Given the description of an element on the screen output the (x, y) to click on. 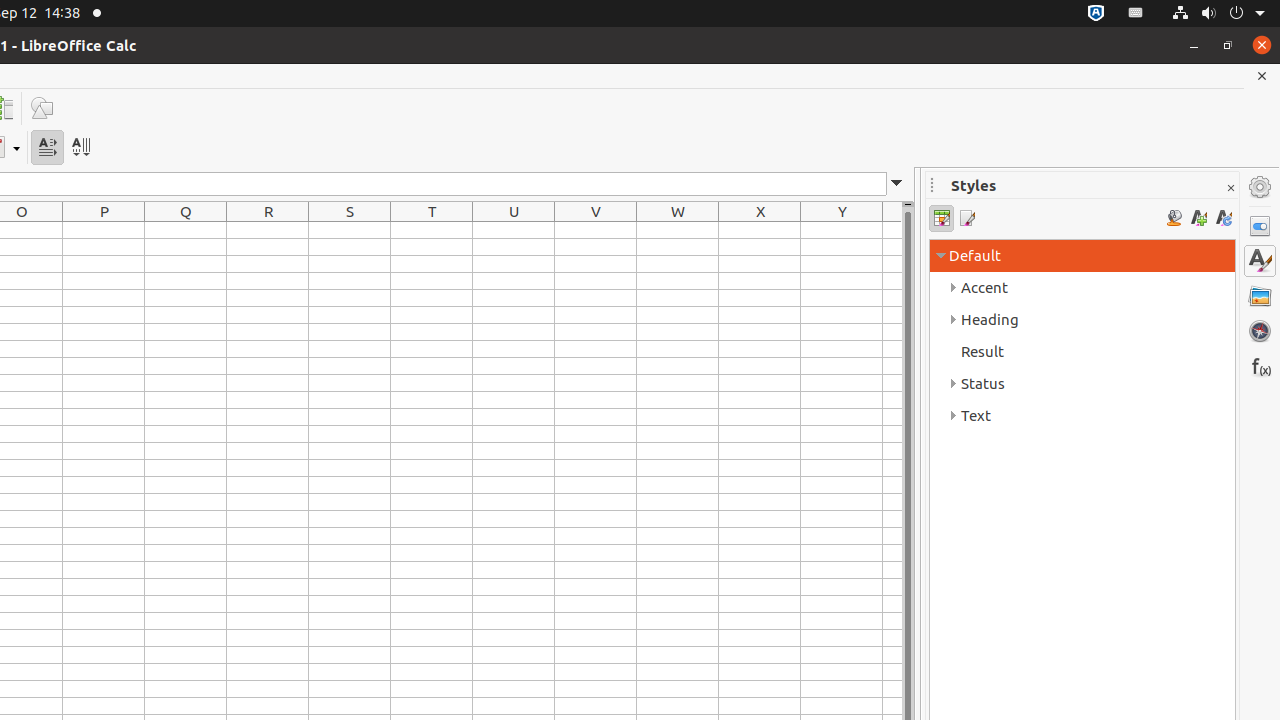
Y1 Element type: table-cell (842, 230)
V1 Element type: table-cell (596, 230)
Text direction from left to right Element type: toggle-button (47, 147)
Z1 Element type: table-cell (892, 230)
T1 Element type: table-cell (432, 230)
